Given the description of an element on the screen output the (x, y) to click on. 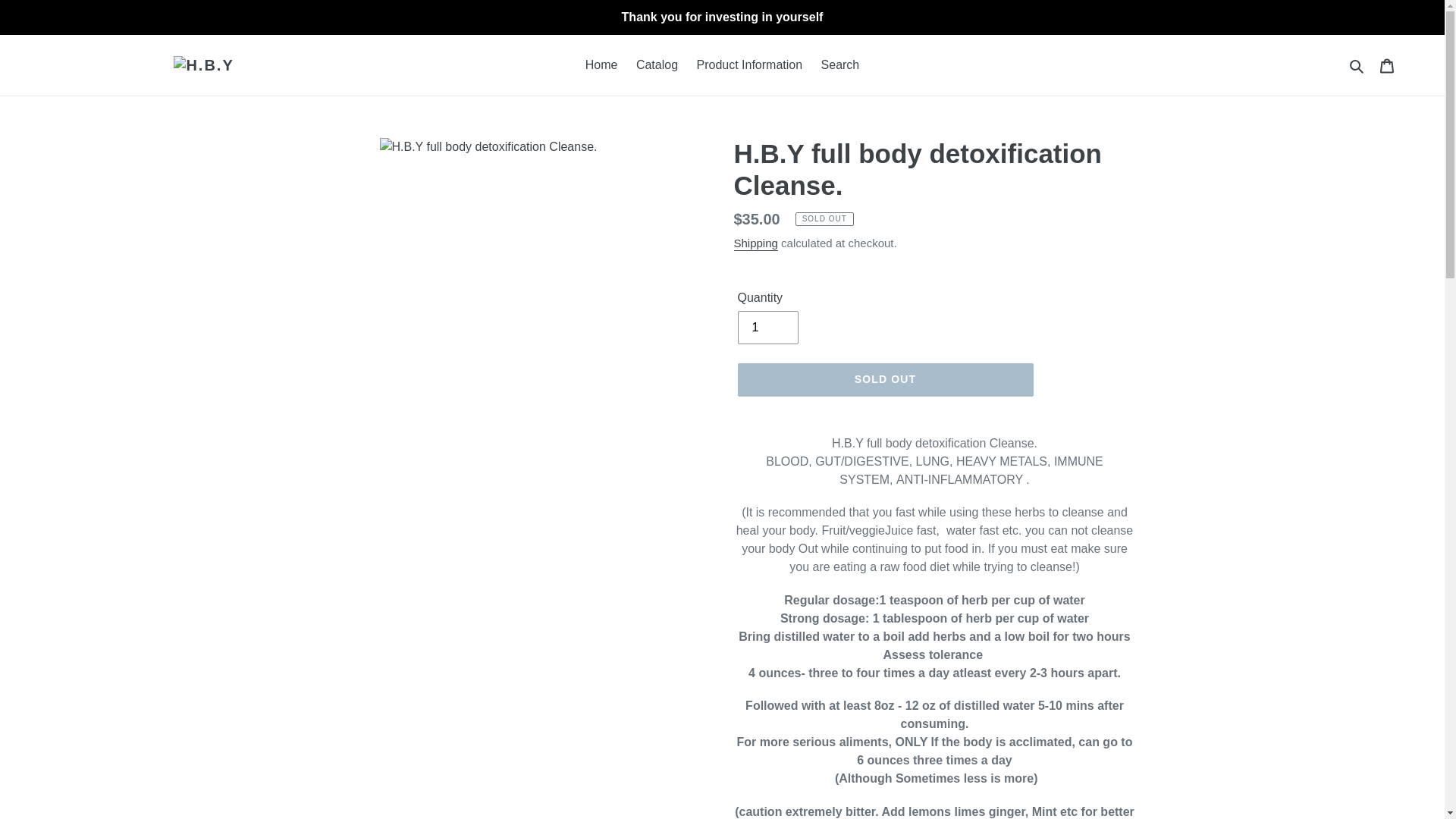
Catalog (656, 65)
1 (766, 327)
Cart (1387, 64)
SOLD OUT (884, 379)
Search (1357, 65)
Search (840, 65)
Shipping (755, 243)
Home (602, 65)
Product Information (748, 65)
